Given the description of an element on the screen output the (x, y) to click on. 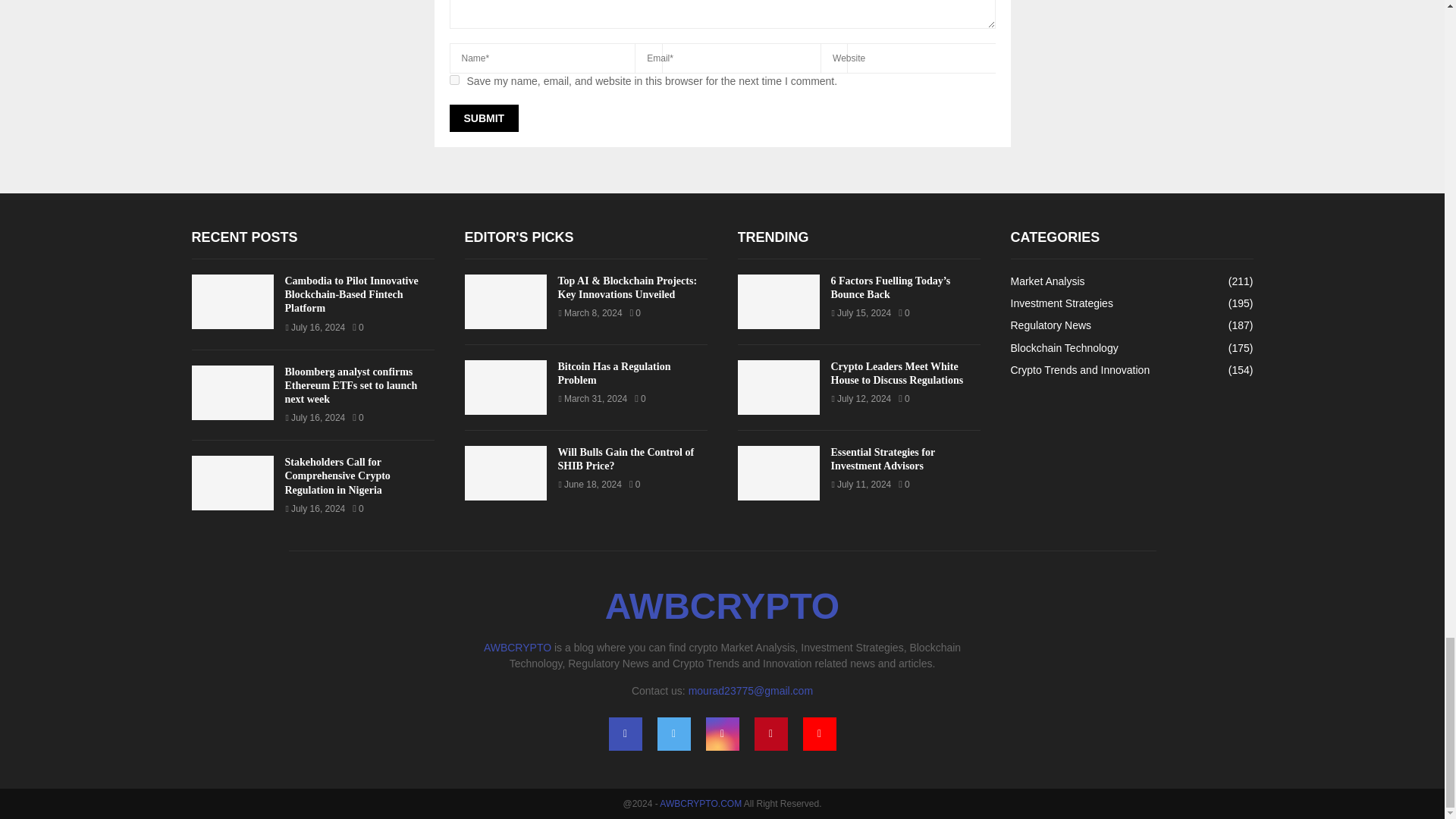
Submit (483, 117)
yes (453, 80)
